Given the description of an element on the screen output the (x, y) to click on. 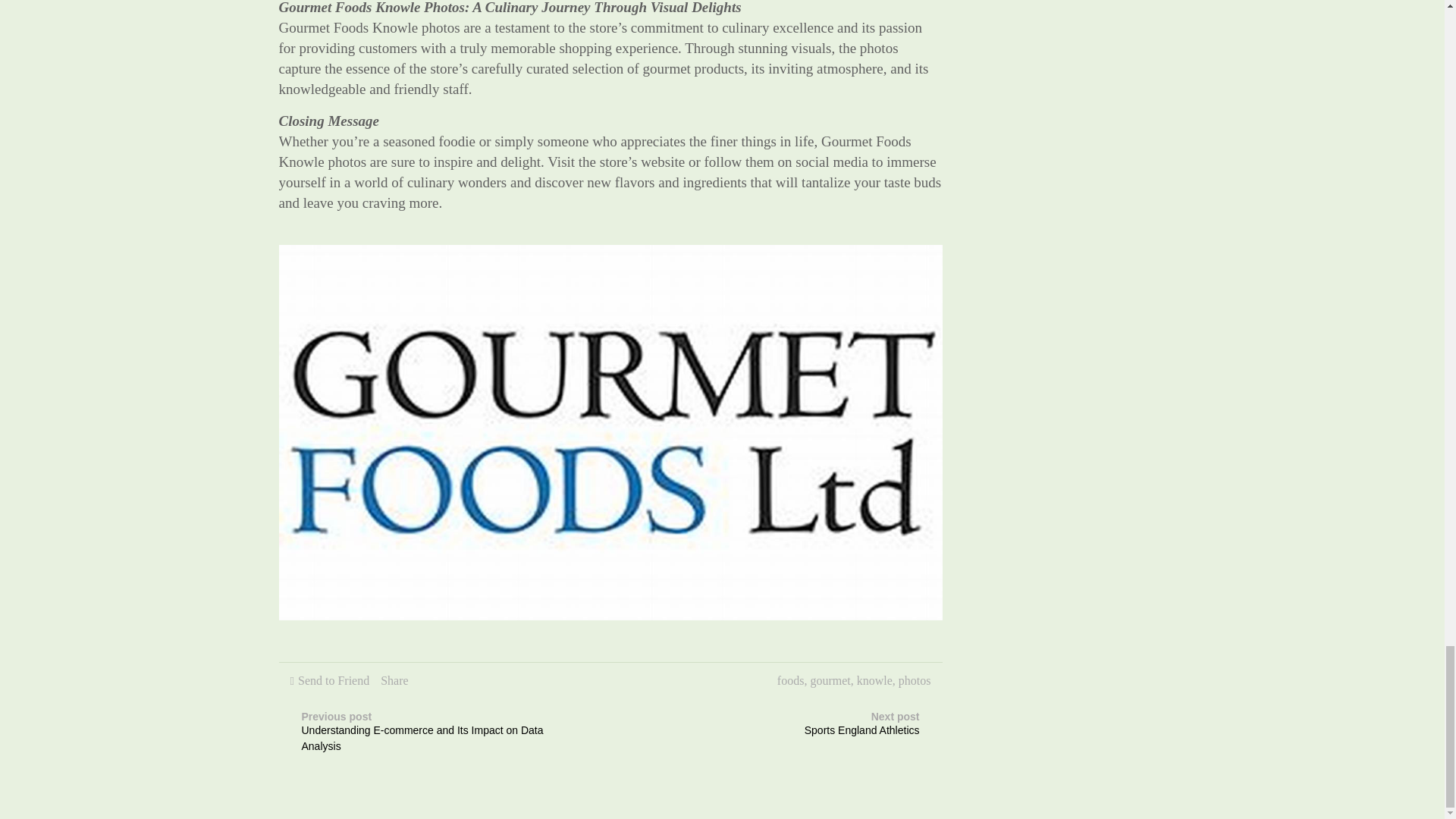
Share (797, 725)
knowle (393, 679)
foods (874, 679)
photos (791, 679)
Send to Friend (914, 679)
gourmet (333, 679)
